Given the description of an element on the screen output the (x, y) to click on. 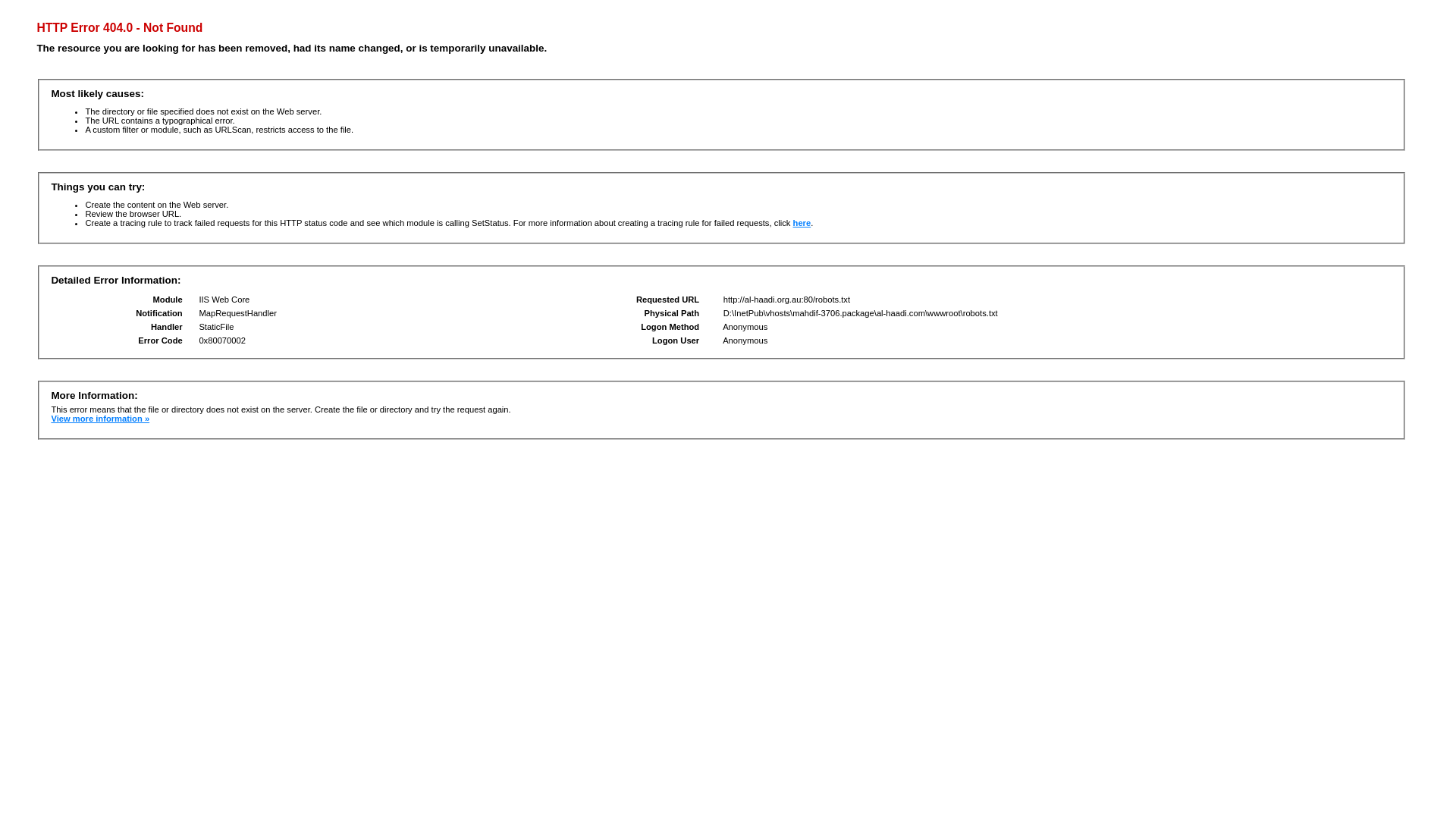
here Element type: text (802, 222)
